Given the description of an element on the screen output the (x, y) to click on. 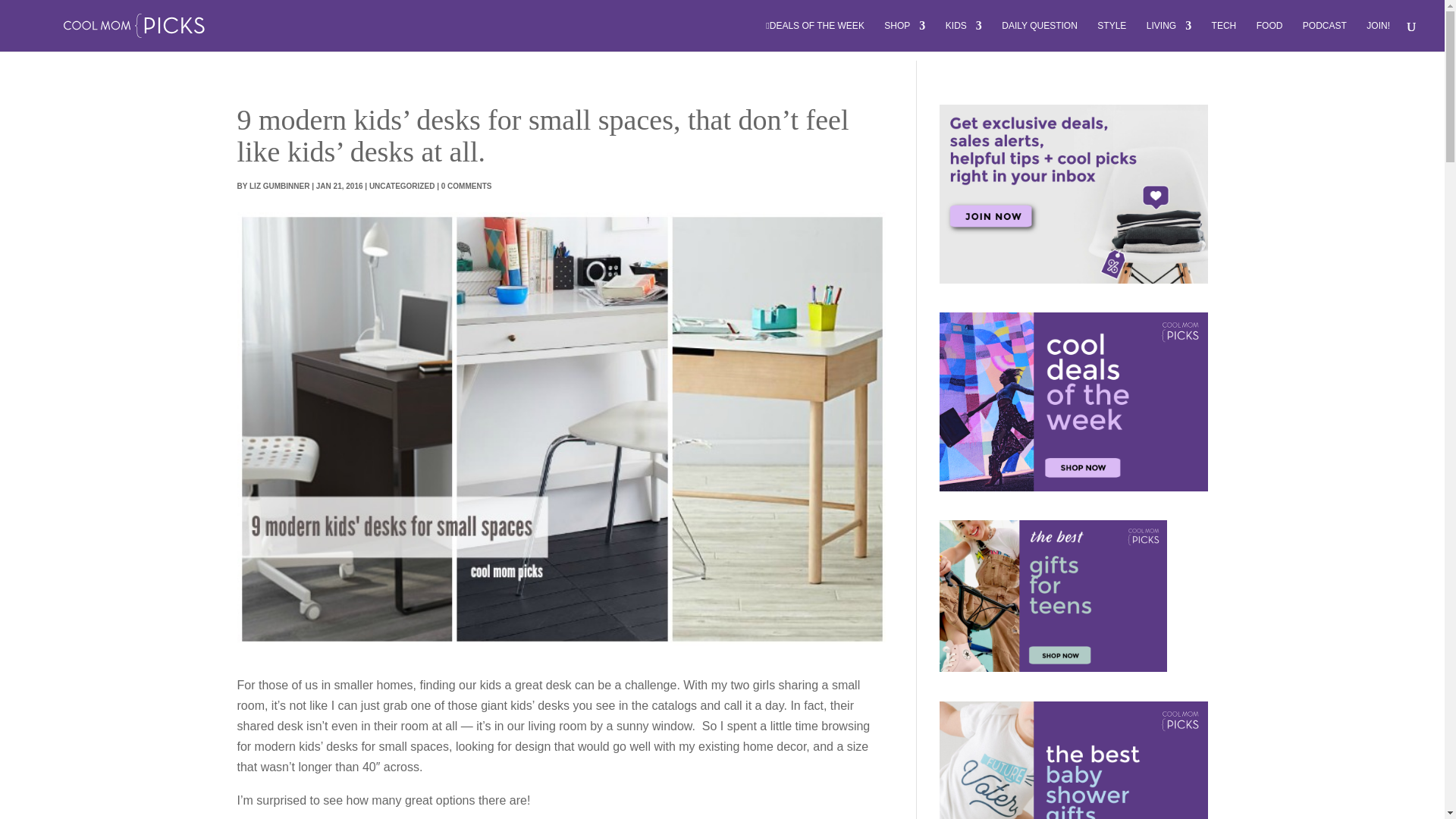
LIVING (1169, 35)
Posts by Liz Gumbinner (278, 185)
STYLE (1111, 35)
DAILY QUESTION (1039, 35)
KIDS (962, 35)
SHOP (903, 35)
PODCAST (1324, 35)
